Given the description of an element on the screen output the (x, y) to click on. 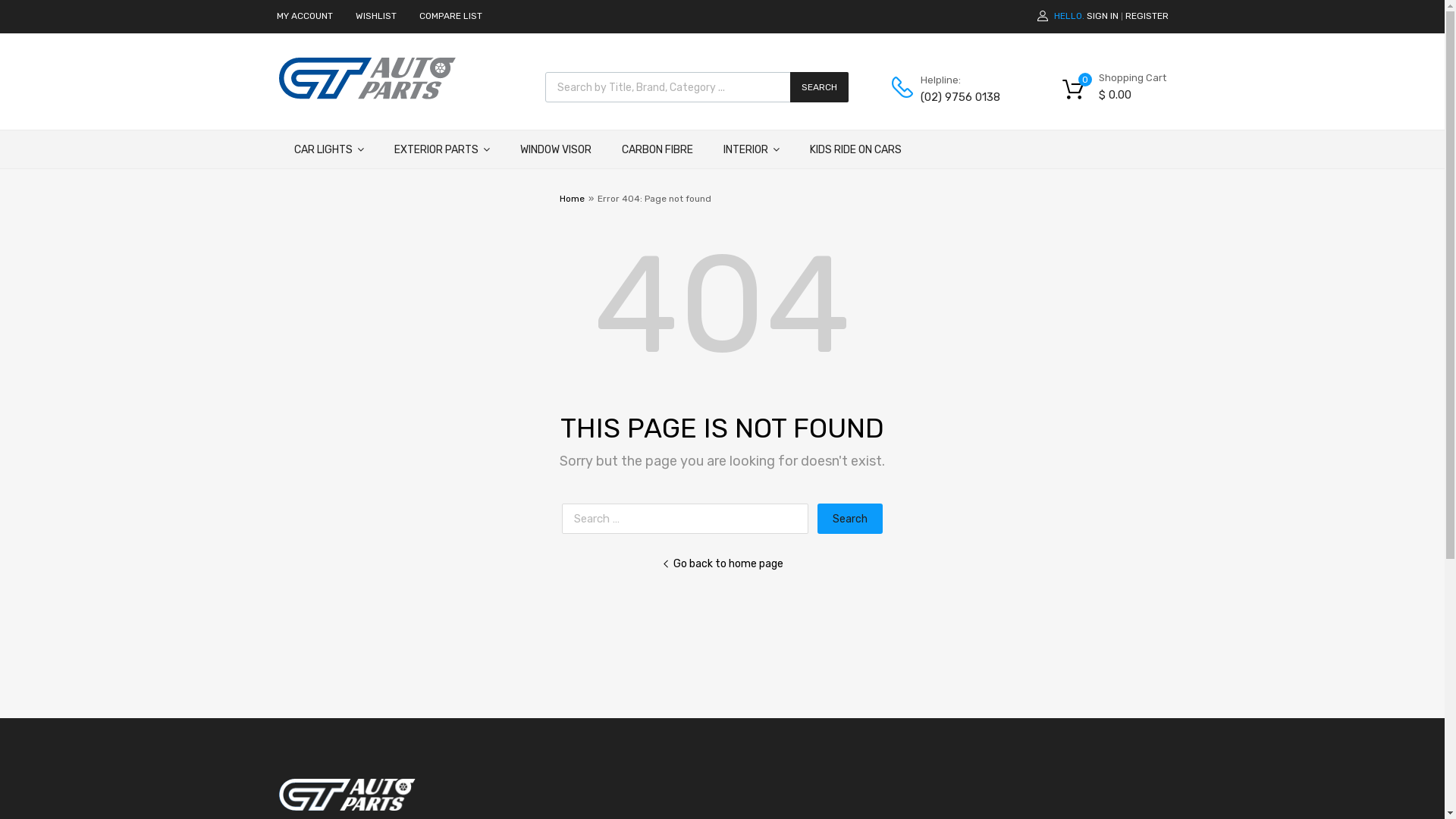
MY ACCOUNT Element type: text (304, 15)
Search Element type: text (849, 518)
INTERIOR Element type: text (751, 149)
(02) 9756 0138 Element type: text (957, 96)
WISHLIST Element type: text (374, 15)
Go back to home page Element type: text (721, 563)
SEARCH Element type: text (819, 87)
CAR LIGHTS Element type: text (329, 149)
CARBON FIBRE Element type: text (657, 149)
KIDS RIDE ON CARS Element type: text (855, 149)
COMPARE LIST Element type: text (449, 15)
CT AutoParts Element type: hover (367, 95)
SIGN IN Element type: text (1101, 15)
WINDOW VISOR Element type: text (555, 149)
Login Element type: text (799, 439)
REGISTER Element type: text (1146, 15)
EXTERIOR PARTS Element type: text (442, 149)
Register Element type: text (795, 469)
Home Element type: text (571, 198)
